Given the description of an element on the screen output the (x, y) to click on. 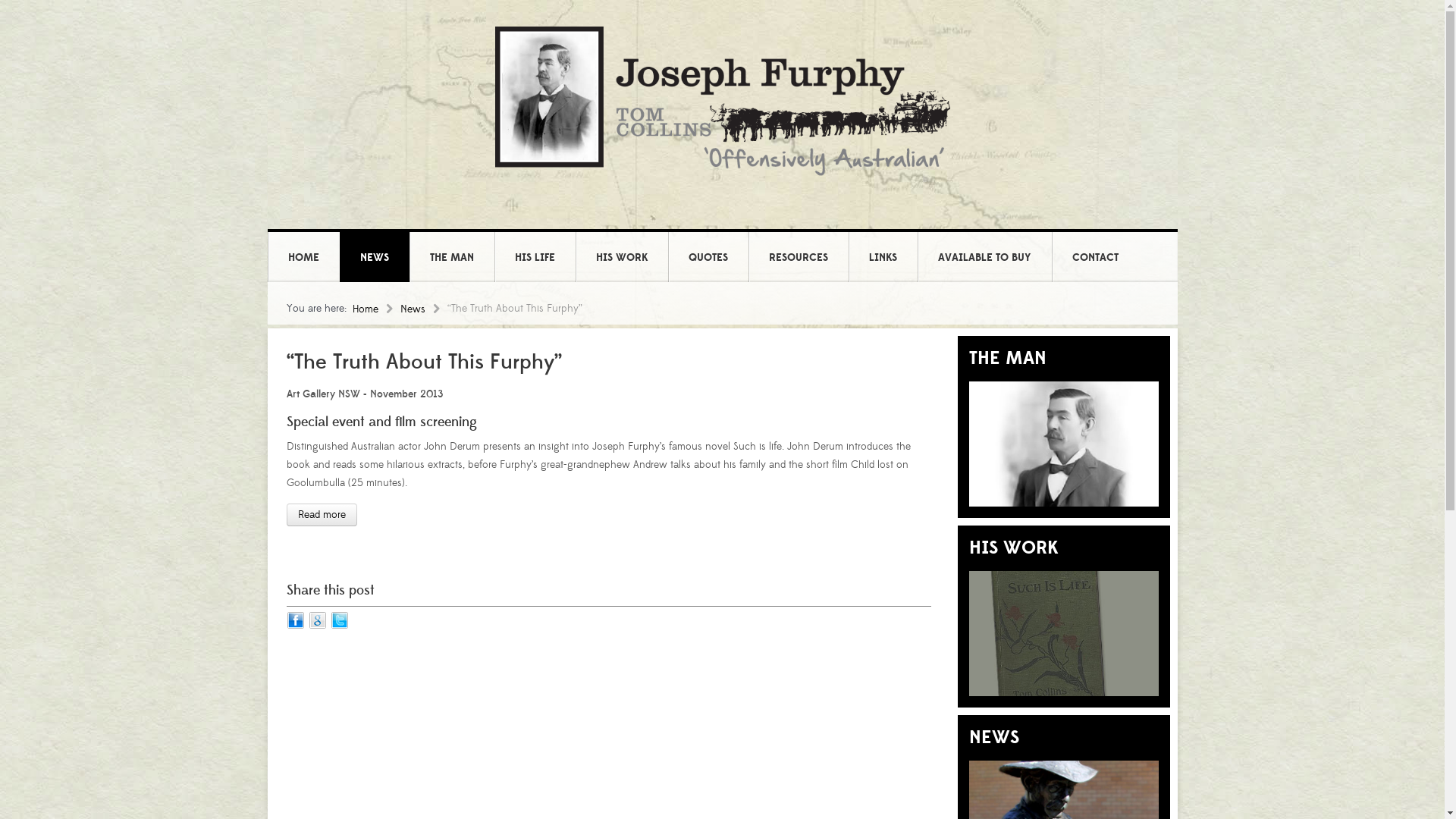
HIS WORK Element type: text (621, 257)
QUOTES Element type: text (707, 257)
Read more Element type: text (321, 514)
Home Element type: text (375, 309)
CONTACT Element type: text (1095, 257)
Submit to Facebook Element type: hover (295, 619)
LINKS Element type: text (882, 257)
NEWS Element type: text (373, 257)
Submit to Google Bookmarks Element type: hover (316, 619)
Submit to Twitter Element type: hover (339, 619)
THE MAN Element type: text (450, 257)
AVAILABLE TO BUY Element type: text (983, 257)
News Element type: text (423, 309)
RESOURCES Element type: text (798, 257)
HOME Element type: text (303, 257)
HIS LIFE Element type: text (534, 257)
